Given the description of an element on the screen output the (x, y) to click on. 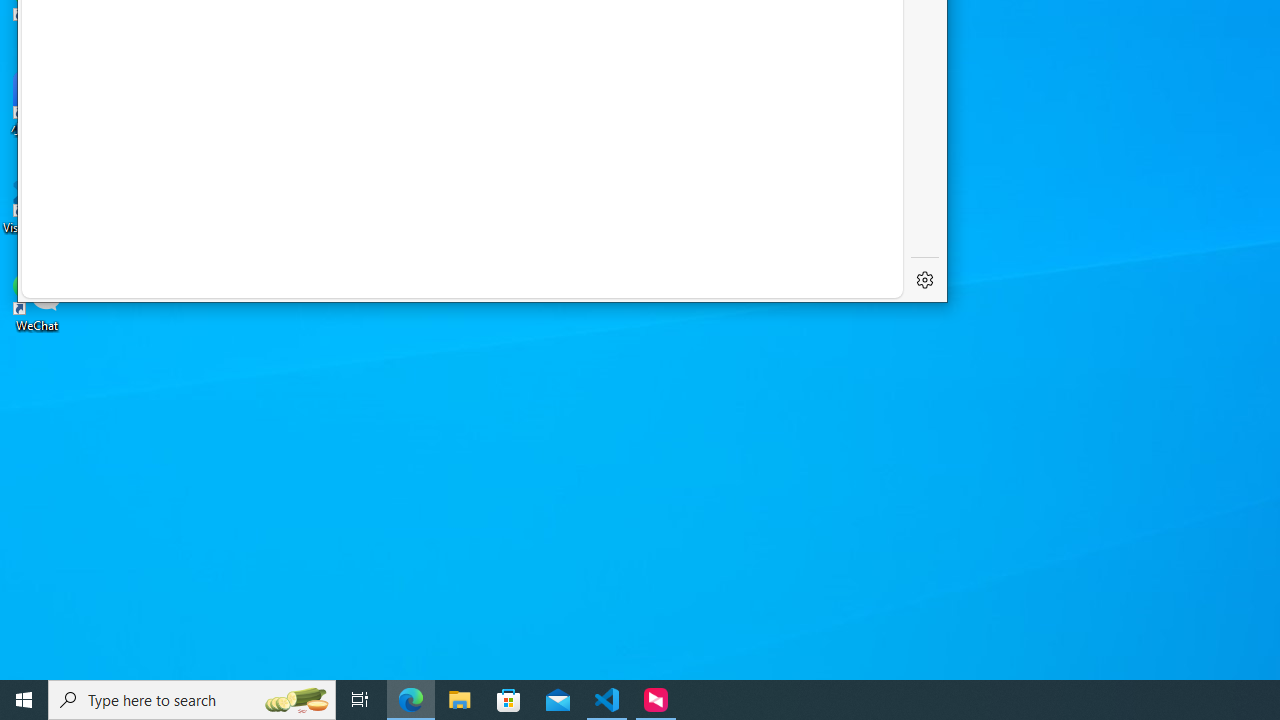
Visual Studio Code - 1 running window (607, 699)
Search highlights icon opens search home window (295, 699)
Type here to search (191, 699)
Microsoft Edge - 1 running window (411, 699)
Task View (359, 699)
Microsoft Store (509, 699)
Start (24, 699)
File Explorer (460, 699)
